Given the description of an element on the screen output the (x, y) to click on. 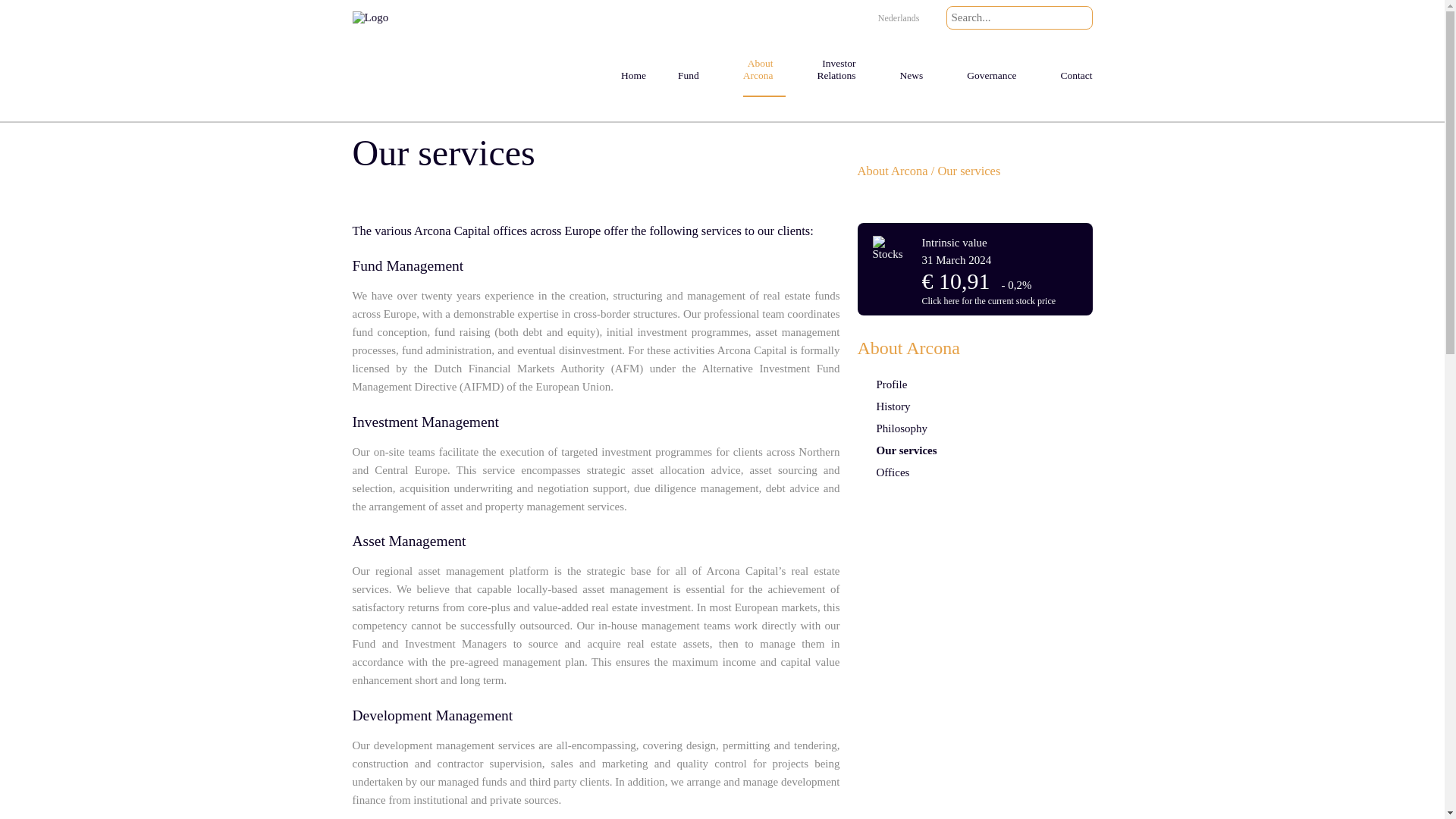
Governance (996, 61)
Our services (974, 450)
Philosophy (974, 428)
Profile (974, 384)
Offices (974, 472)
History (974, 406)
